Given the description of an element on the screen output the (x, y) to click on. 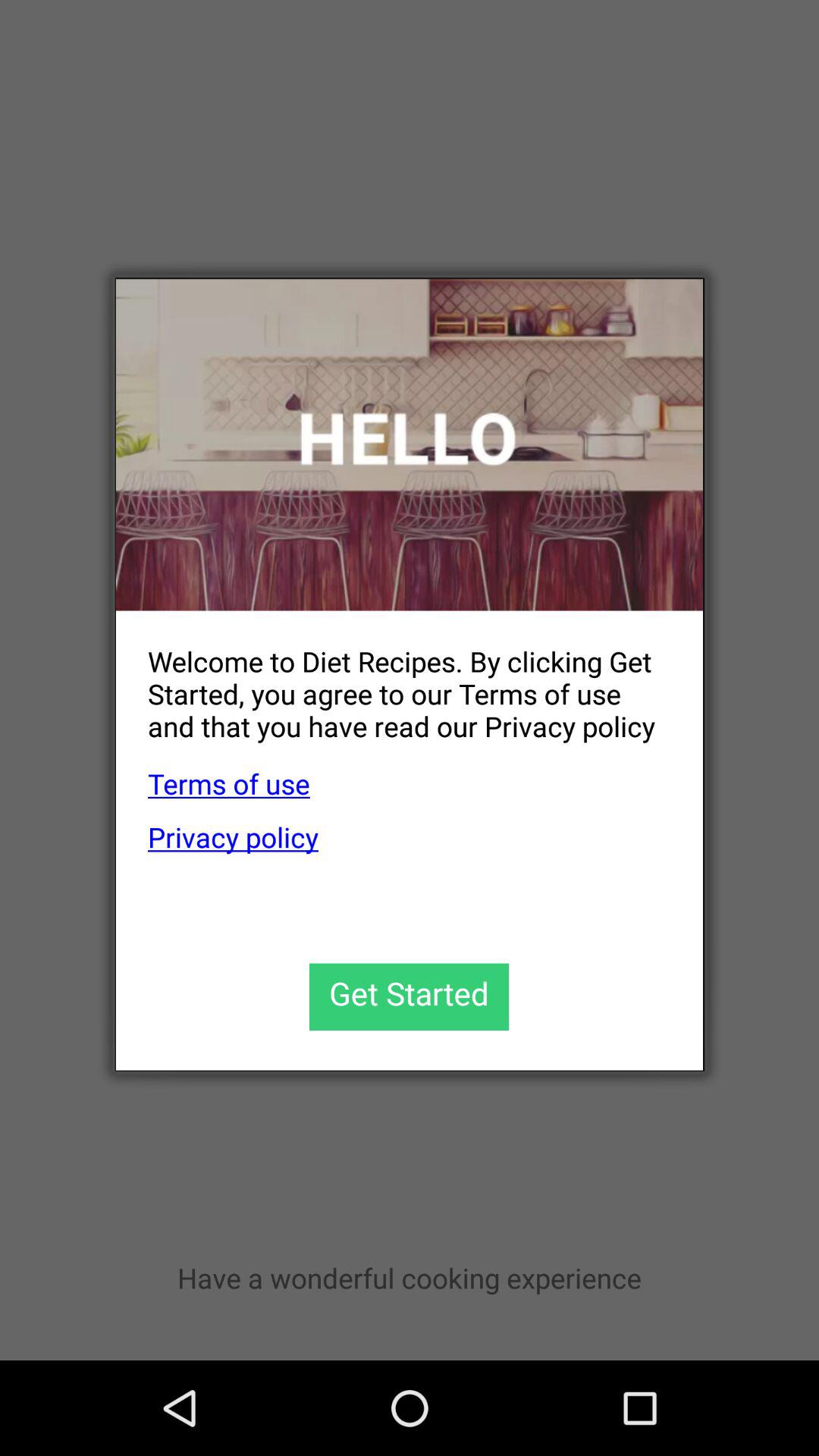
press the icon at the top (409, 444)
